Given the description of an element on the screen output the (x, y) to click on. 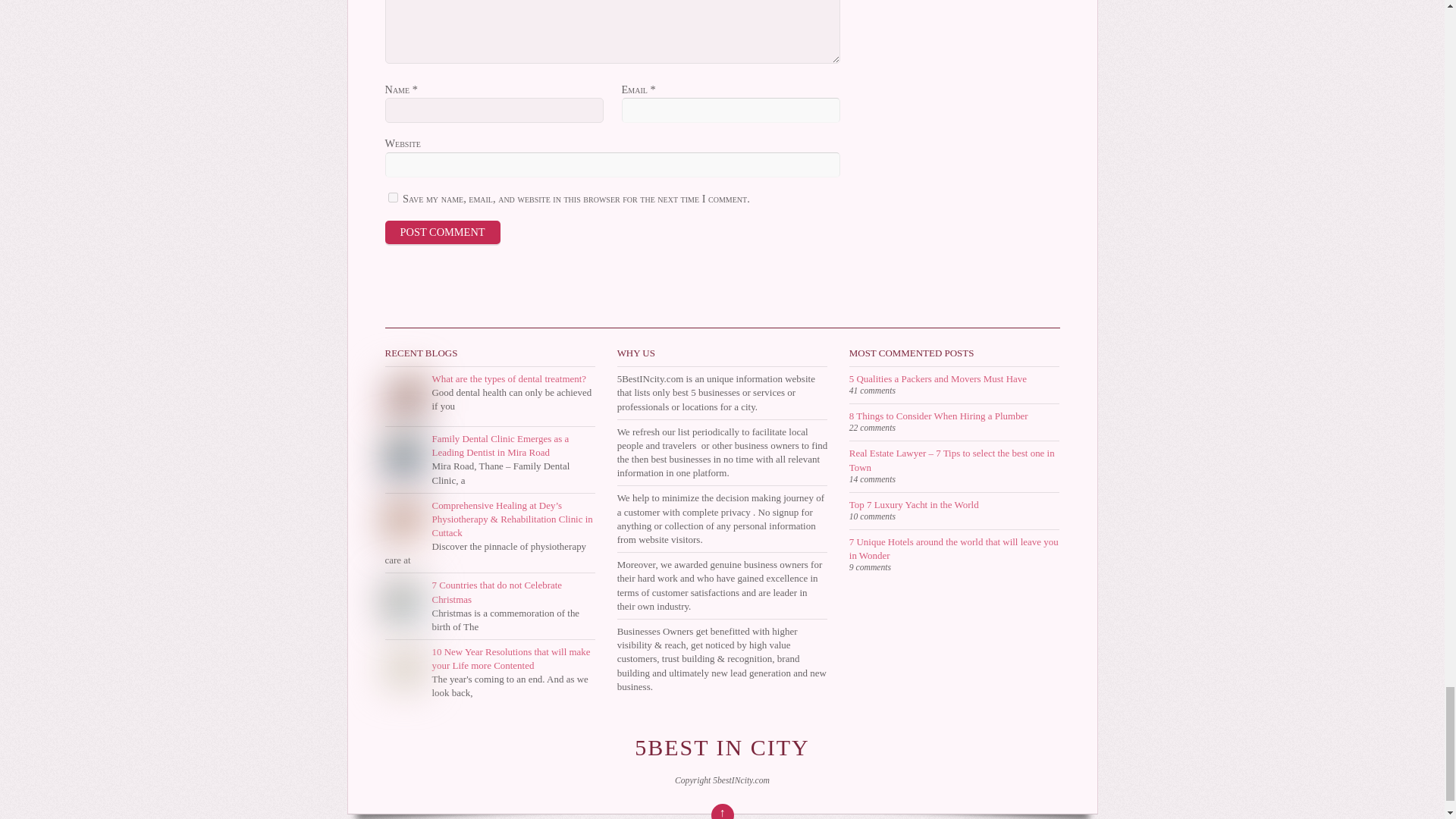
Post Comment (442, 231)
deys-clinic (404, 520)
family-dental-clinic-mira-road (404, 453)
What are the types of dental treatment? (509, 378)
yes (392, 197)
What are the types of dental treatment (404, 394)
new-year-resolution (404, 667)
countries-where-christmas-is-not-celebrated (404, 600)
5Best In City (721, 747)
7 Countries that do not Celebrate Christmas (497, 591)
Post Comment (442, 231)
